Given the description of an element on the screen output the (x, y) to click on. 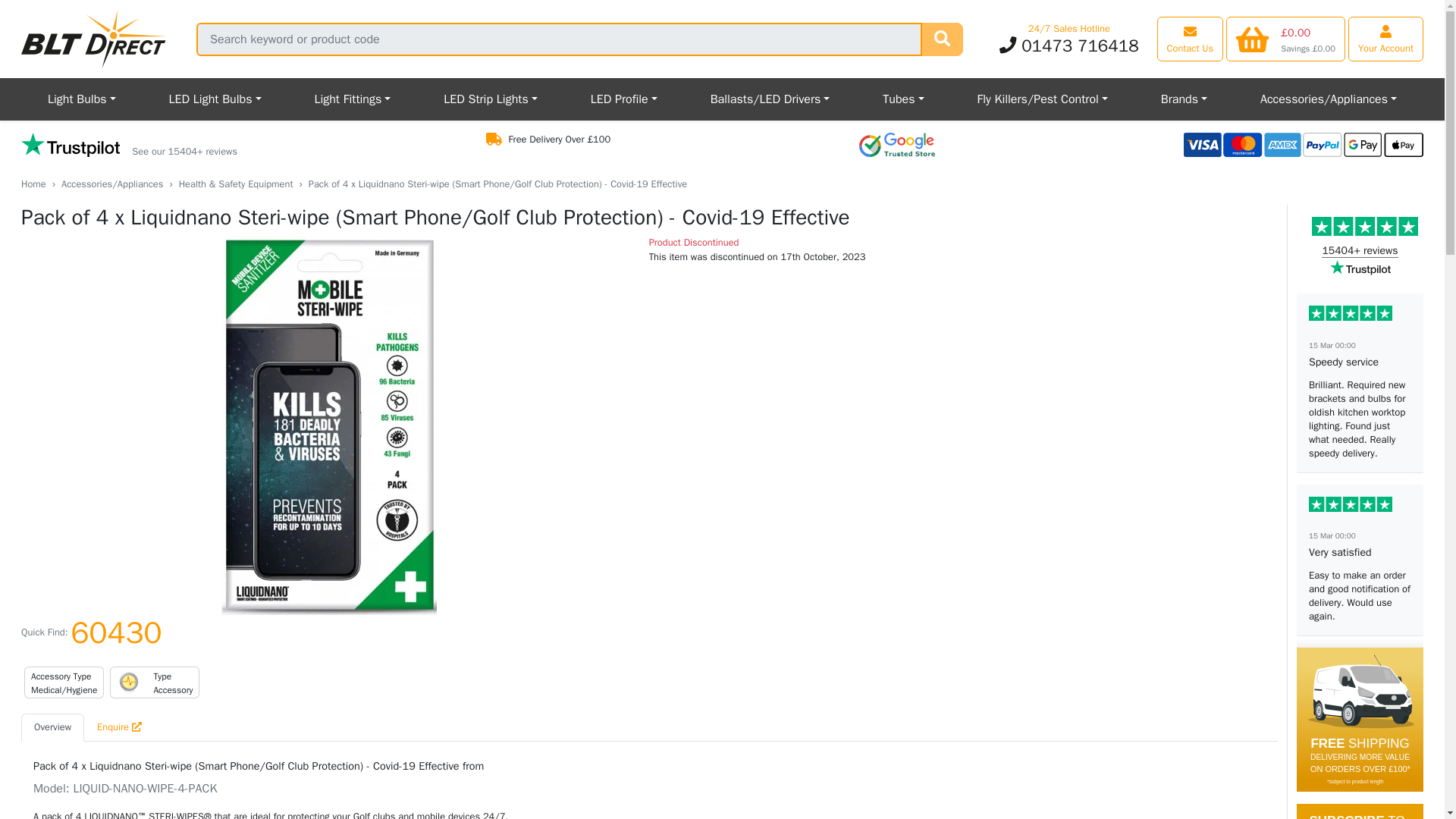
LED Profile (624, 99)
Tubes (903, 99)
Home (33, 184)
Contact Us (1190, 38)
Brands (1183, 99)
Your Account (1385, 38)
Light Bulbs, Lamps and Tubes Direct (94, 38)
Google Trust Store (896, 143)
LED Light Bulbs (215, 99)
Light Fittings (351, 99)
